Given the description of an element on the screen output the (x, y) to click on. 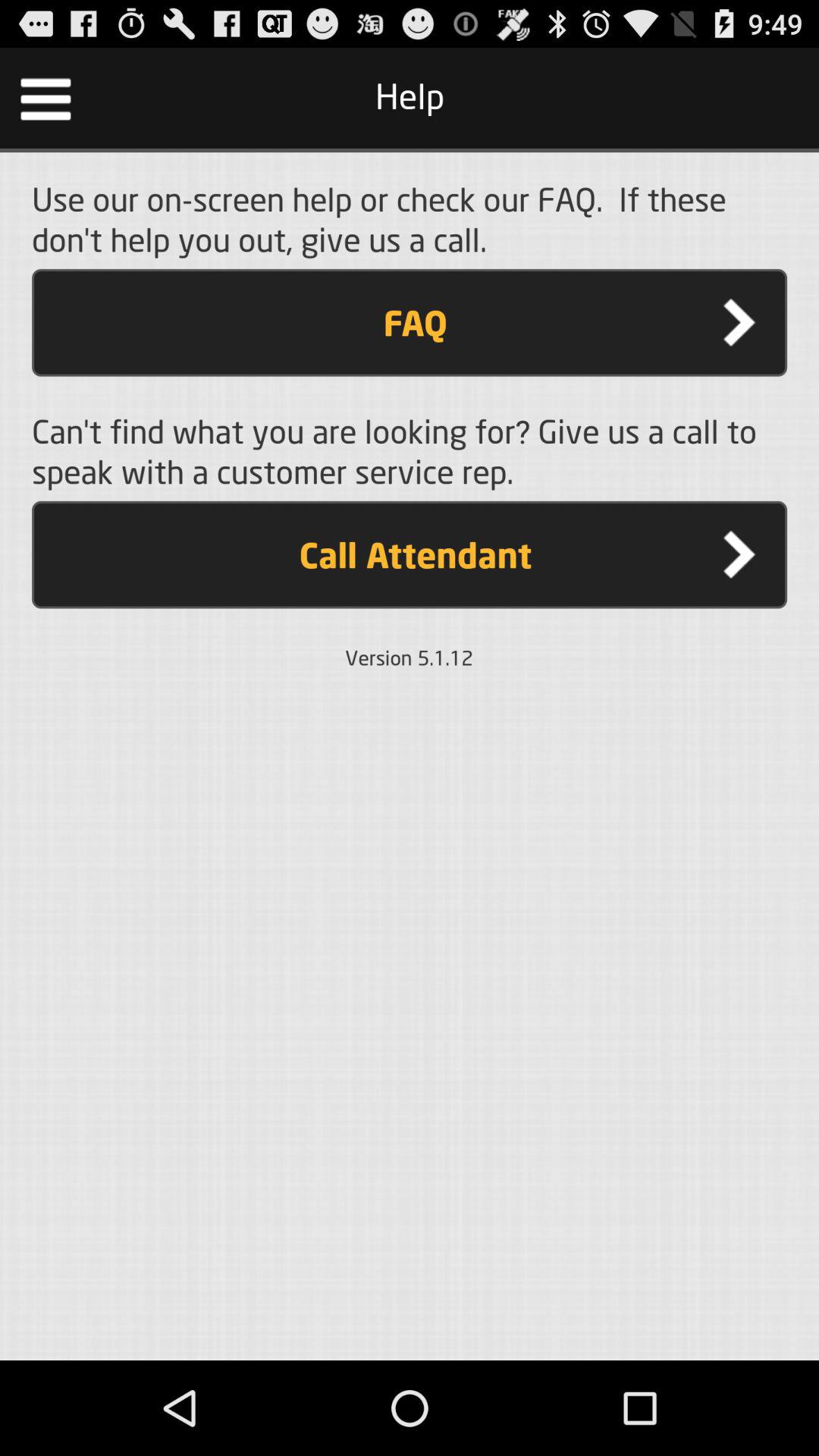
tap the call attendant item (409, 554)
